Given the description of an element on the screen output the (x, y) to click on. 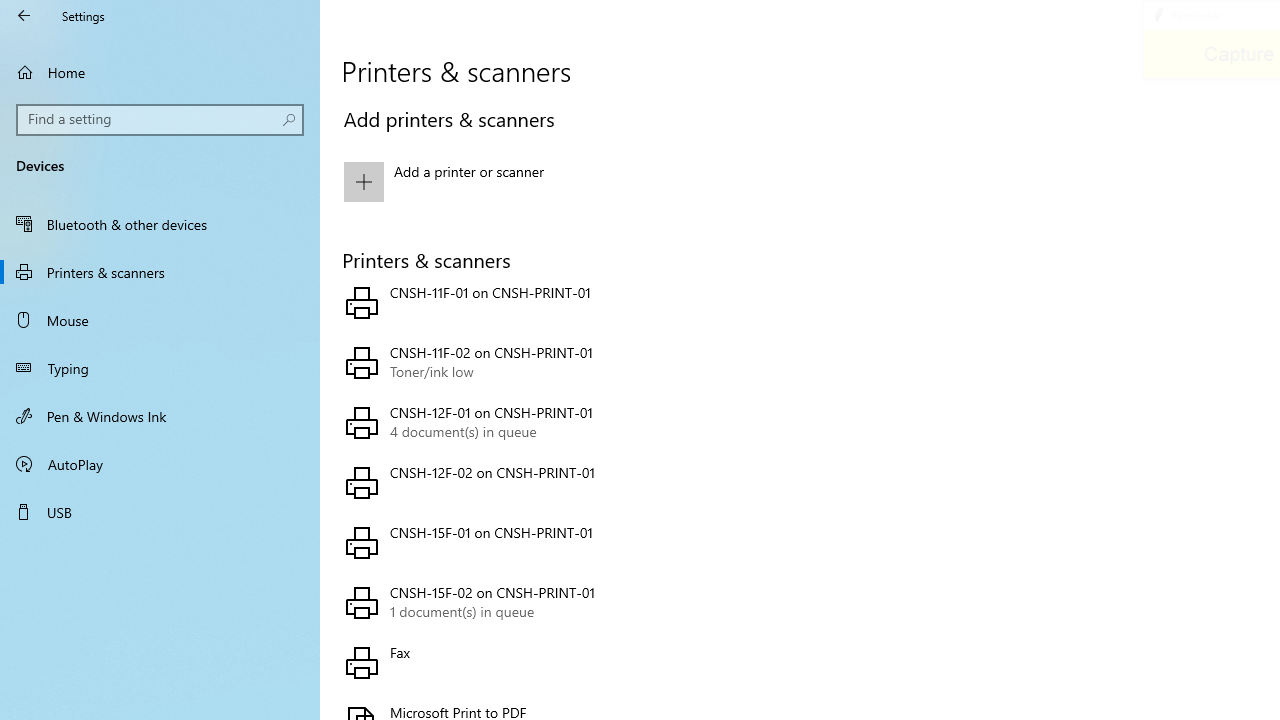
CNSH-15F-01 on CNSH-PRINT-01 (563, 542)
CNSH-12F-01 on CNSH-PRINT-01 4 document(s) in queue (563, 422)
